Given the description of an element on the screen output the (x, y) to click on. 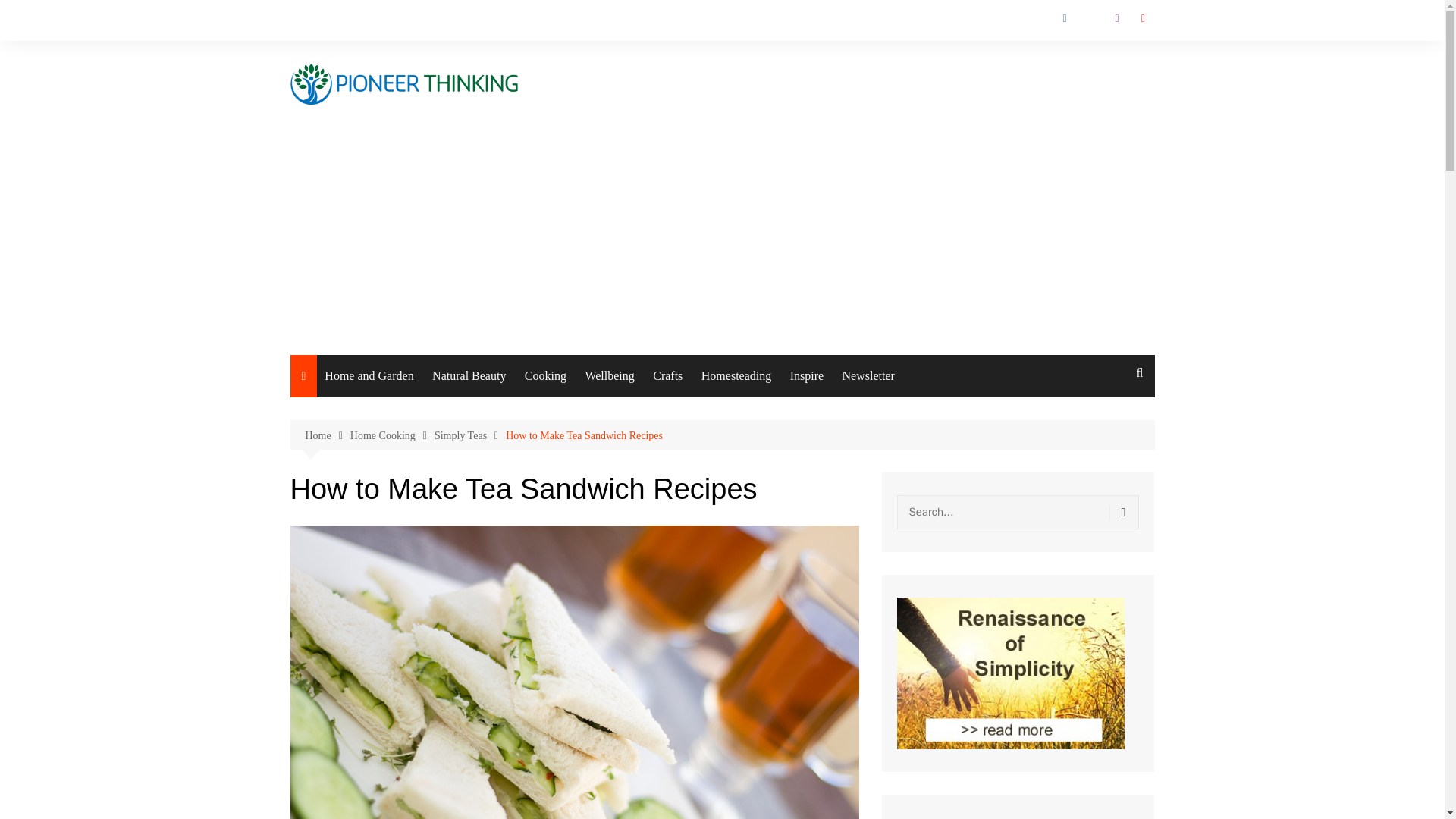
Instagram (1116, 18)
Preserving Food (600, 539)
Spa Recipes (508, 526)
Indoor Gardening (566, 571)
YouTube (1142, 18)
Down Home Cooking (600, 444)
Home Life (400, 476)
Gardening How-To (566, 476)
Natural Cleaning (400, 507)
Health and Natural Remedies (660, 444)
